Given the description of an element on the screen output the (x, y) to click on. 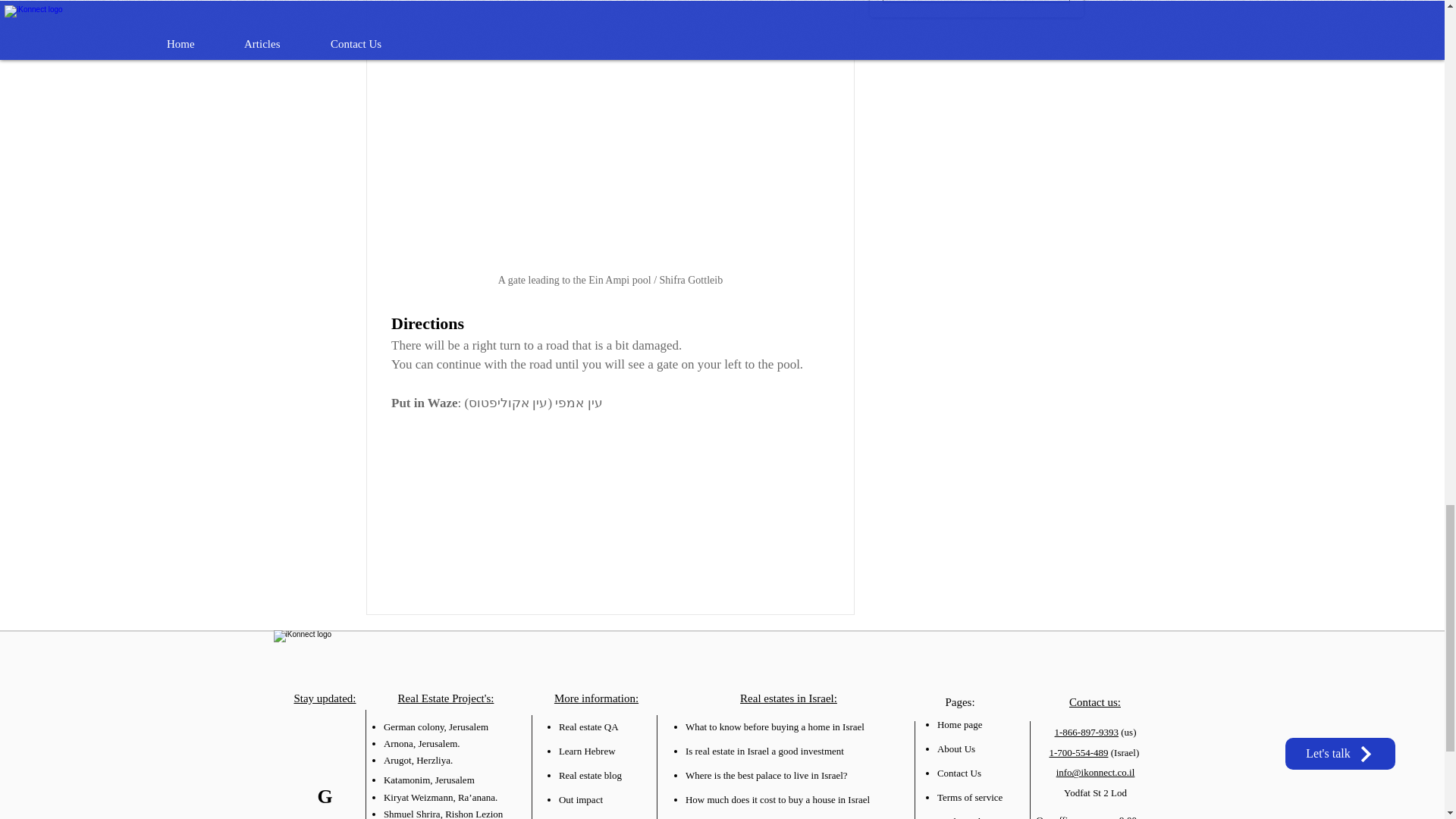
Is real estate in Israel a good investment (764, 750)
What to know before buying a home in Israel (774, 726)
Shmuel Shrira, Rishon Lezion (443, 813)
Real estate blog (590, 775)
Terms of service (970, 797)
Real estates in Israel: (788, 698)
Where is the best palace to live in Israel? (766, 775)
Contact us: (1094, 702)
German colony, Jerusalem (435, 726)
